Given the description of an element on the screen output the (x, y) to click on. 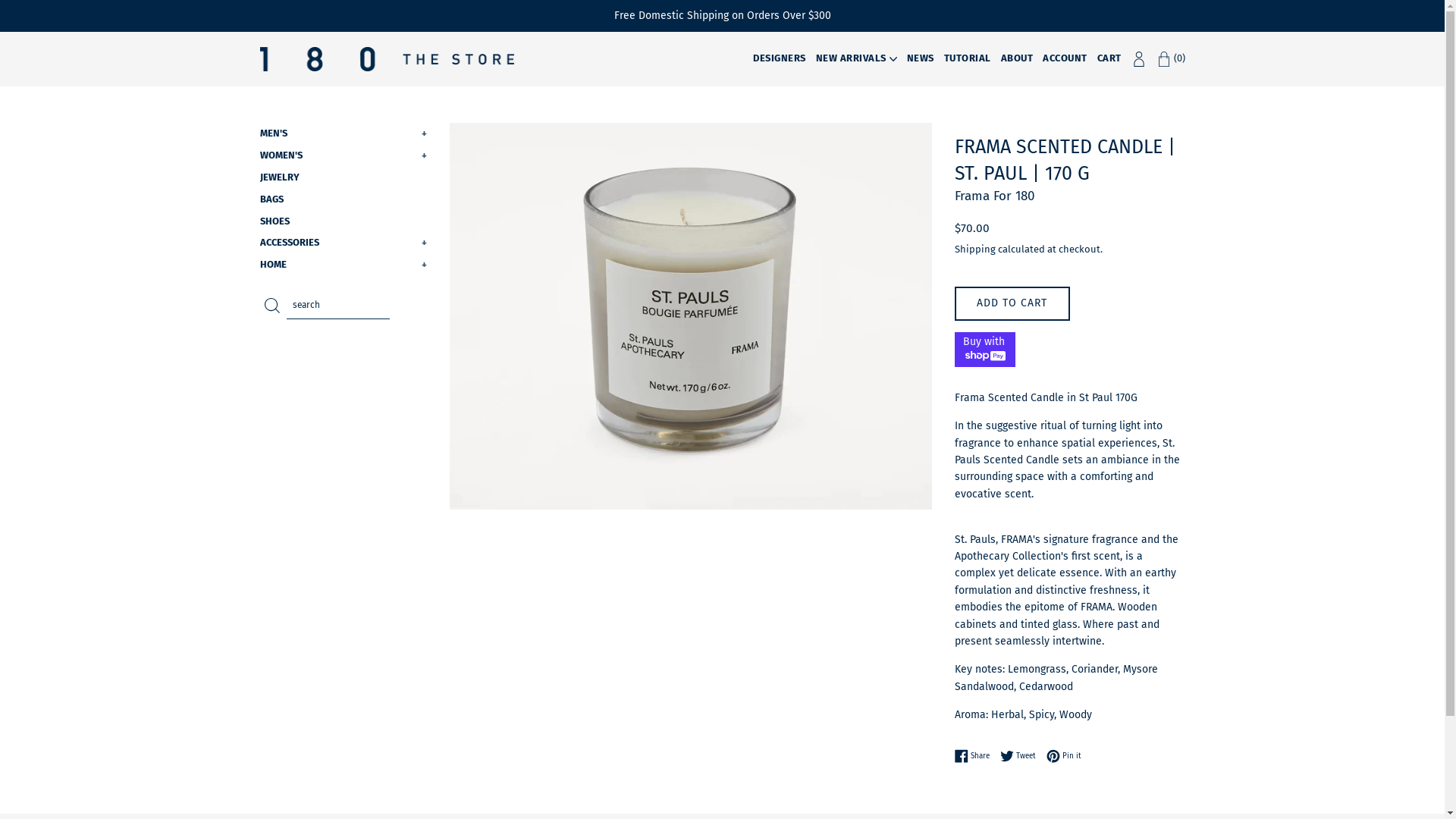
Tweet
Tweet on Twitter Element type: text (1021, 755)
ACCESSORIES
+ Element type: text (342, 243)
HOME
+ Element type: text (342, 265)
TUTORIAL Element type: text (966, 57)
NEWS Element type: text (920, 57)
Shipping Element type: text (974, 248)
DESIGNERS Element type: text (779, 57)
ADD TO CART Element type: text (1012, 303)
WOMEN'S
+ Element type: text (342, 155)
BAGS Element type: text (342, 199)
ABOUT Element type: text (1017, 57)
SHOES Element type: text (342, 221)
Pin it
Pin on Pinterest Element type: text (1063, 755)
ACCOUNT Element type: text (1064, 57)
JEWELRY Element type: text (342, 177)
CART Element type: text (1108, 57)
Frama For 180 Element type: text (994, 195)
Share
Share on Facebook Element type: text (975, 755)
MEN'S
+ Element type: text (342, 133)
(0) Element type: text (1169, 57)
